Given the description of an element on the screen output the (x, y) to click on. 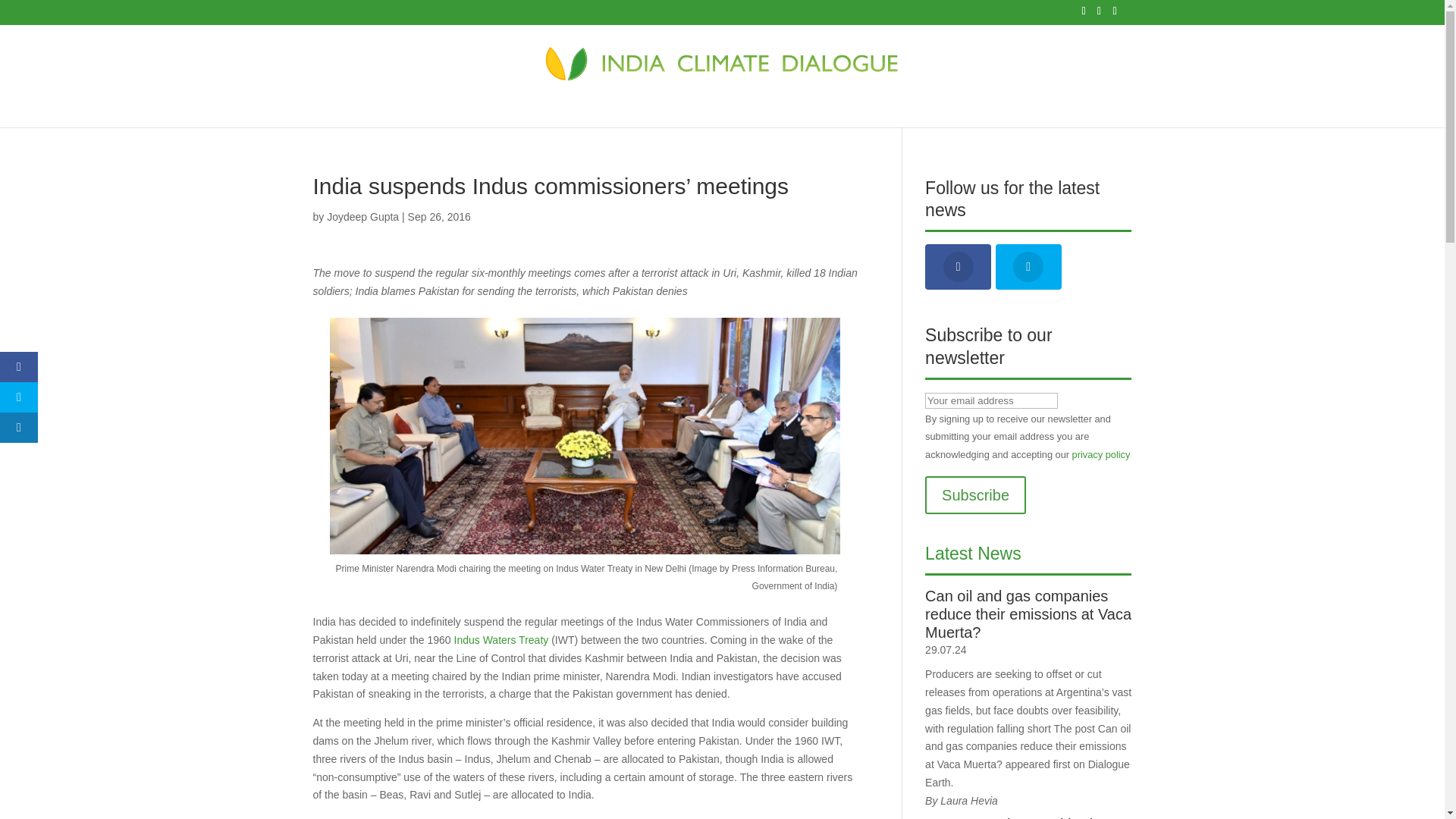
Posts by Joydeep Gupta (362, 216)
privacy policy (1101, 454)
Indus Waters Treaty (501, 639)
Latest News (973, 553)
Joydeep Gupta (362, 216)
Subscribe (975, 494)
Empty promises and broken taps in Uttarakhand (1027, 817)
Subscribe (975, 494)
